Given the description of an element on the screen output the (x, y) to click on. 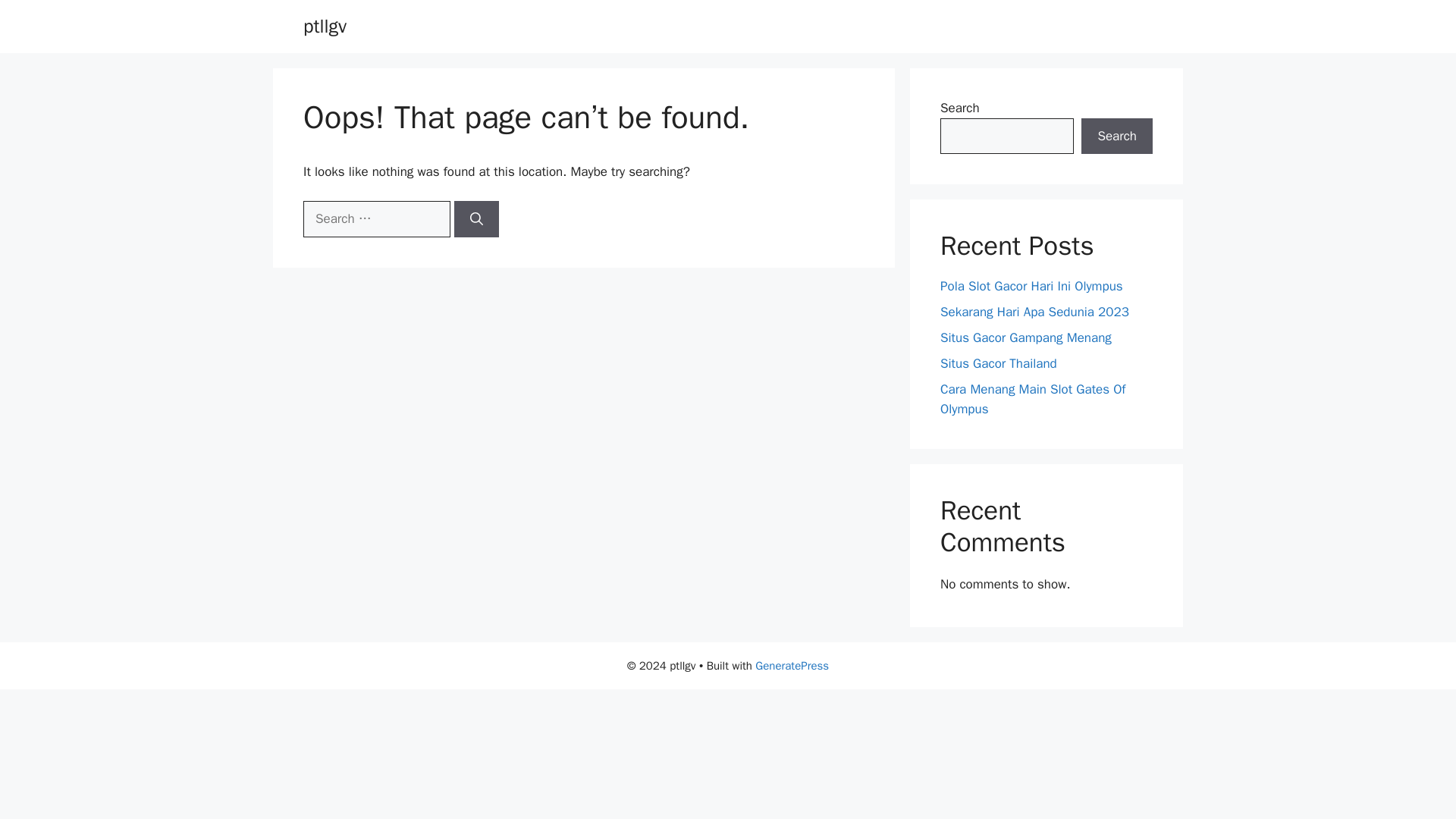
Situs Gacor Gampang Menang (1026, 337)
GeneratePress (791, 665)
Sekarang Hari Apa Sedunia 2023 (1034, 311)
Search (1117, 135)
Situs Gacor Thailand (998, 363)
Search for: (375, 218)
Pola Slot Gacor Hari Ini Olympus (1031, 286)
Cara Menang Main Slot Gates Of Olympus (1032, 398)
ptllgv (324, 25)
